Given the description of an element on the screen output the (x, y) to click on. 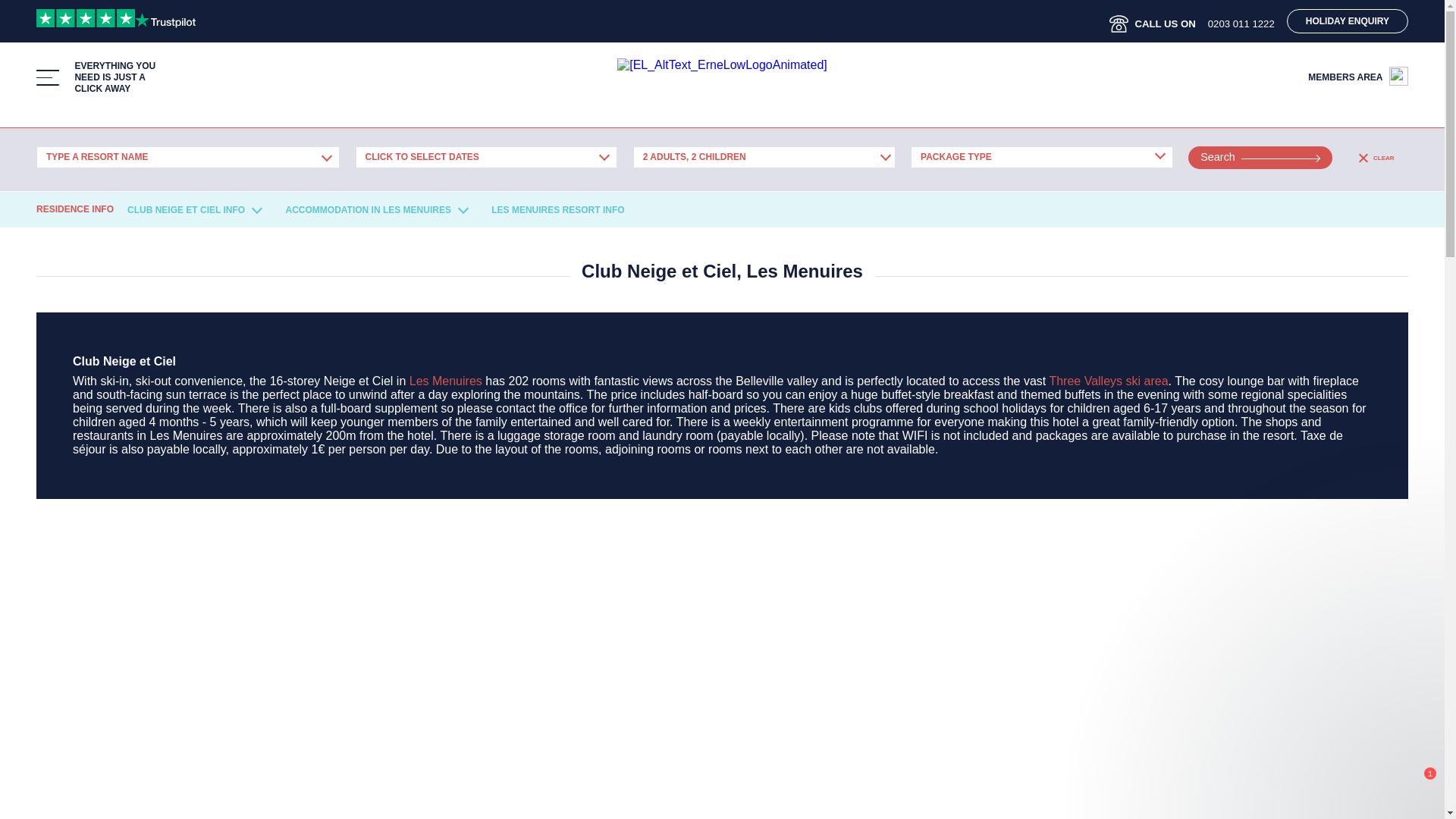
MEMBERS AREA (1357, 74)
Intercom live chat (1411, 785)
CALL US ON0203 011 1222 (1198, 22)
Customer reviews powered by Trustpilot (115, 19)
Intercom live chat message (1300, 621)
